Given the description of an element on the screen output the (x, y) to click on. 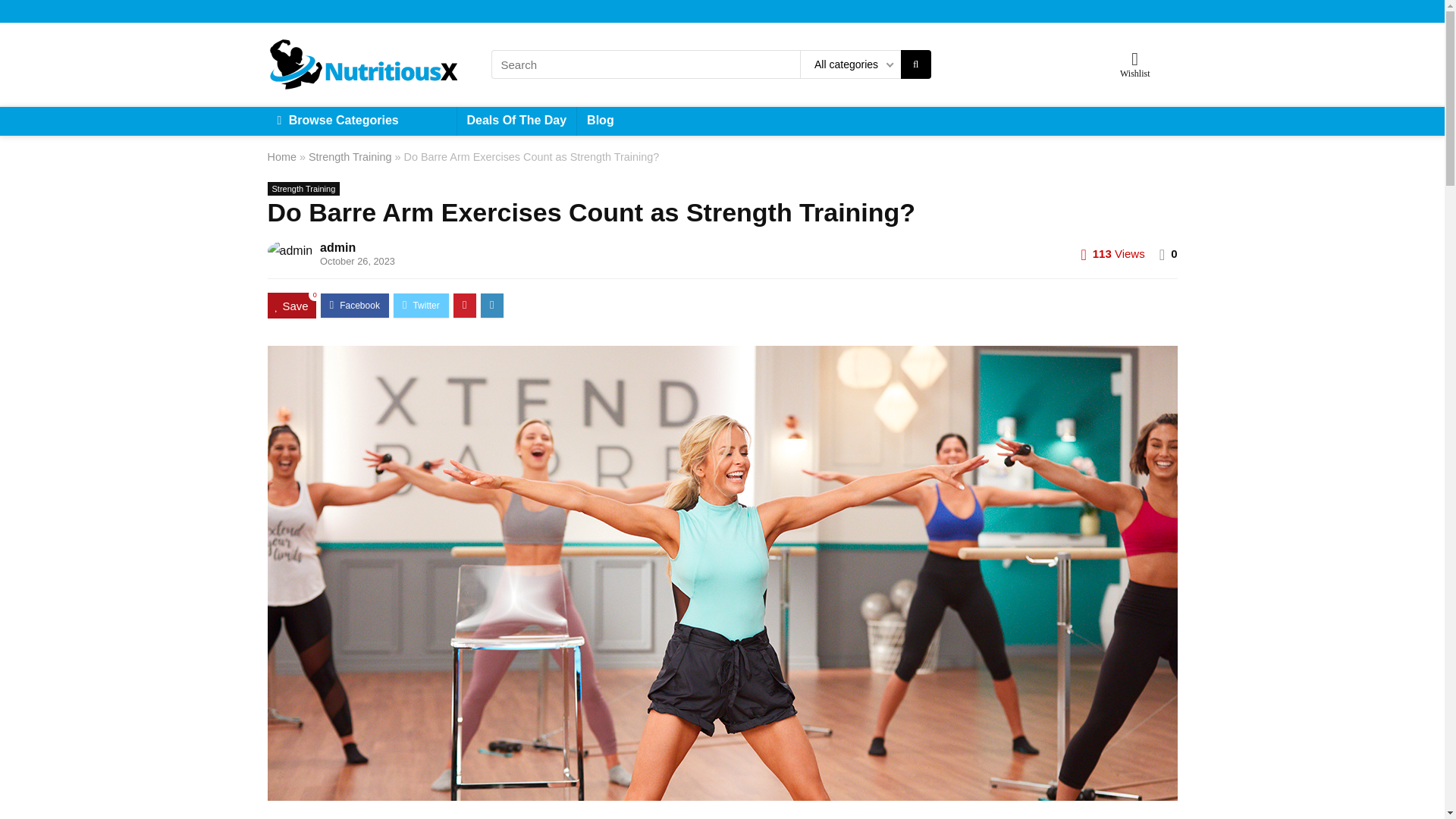
View all posts in Strength Training (302, 188)
Browse Categories (360, 121)
